Given the description of an element on the screen output the (x, y) to click on. 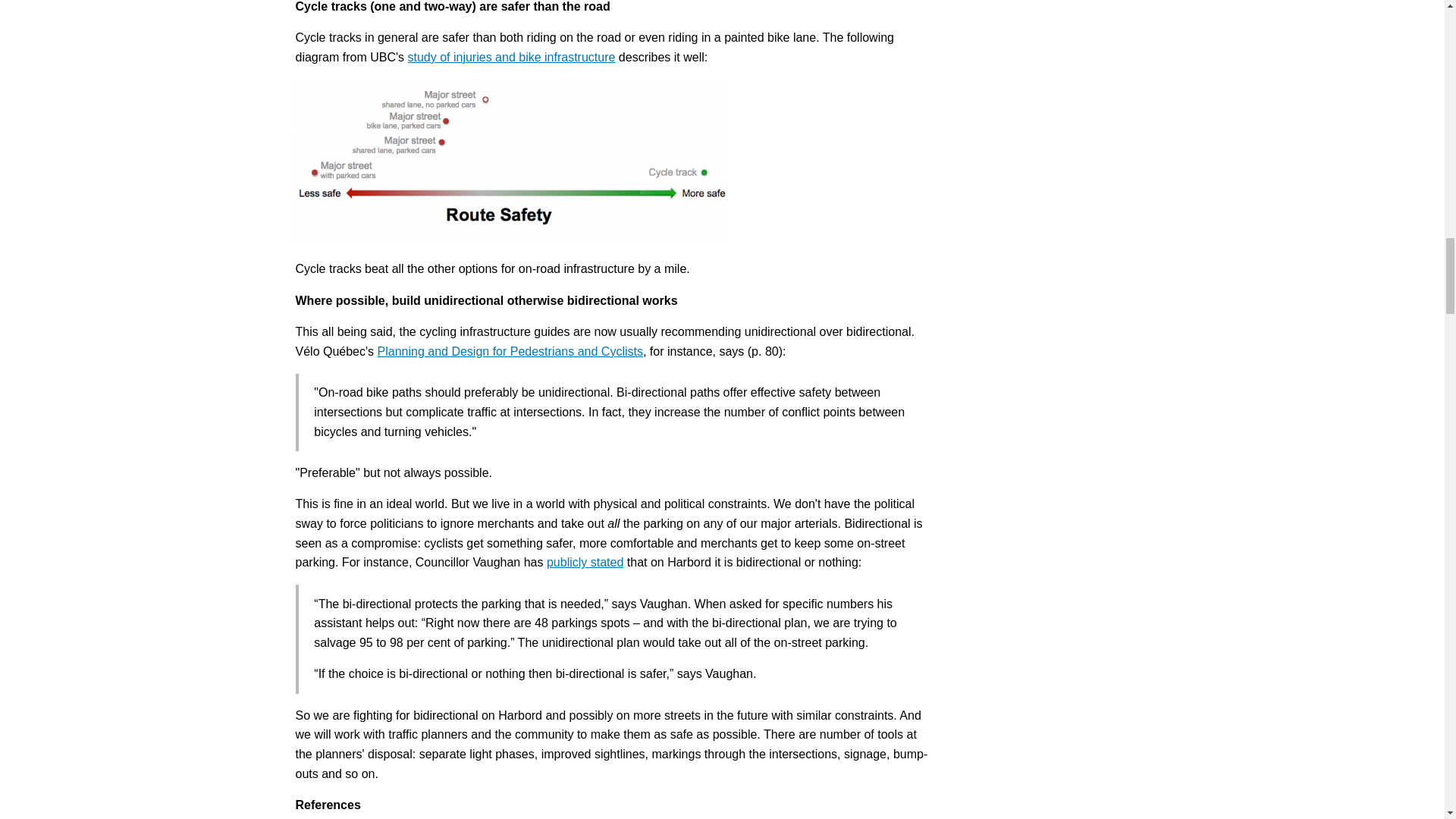
study of injuries and bike infrastructure (510, 56)
publicly stated (585, 562)
Planning and Design for Pedestrians and Cyclists (510, 350)
